Given the description of an element on the screen output the (x, y) to click on. 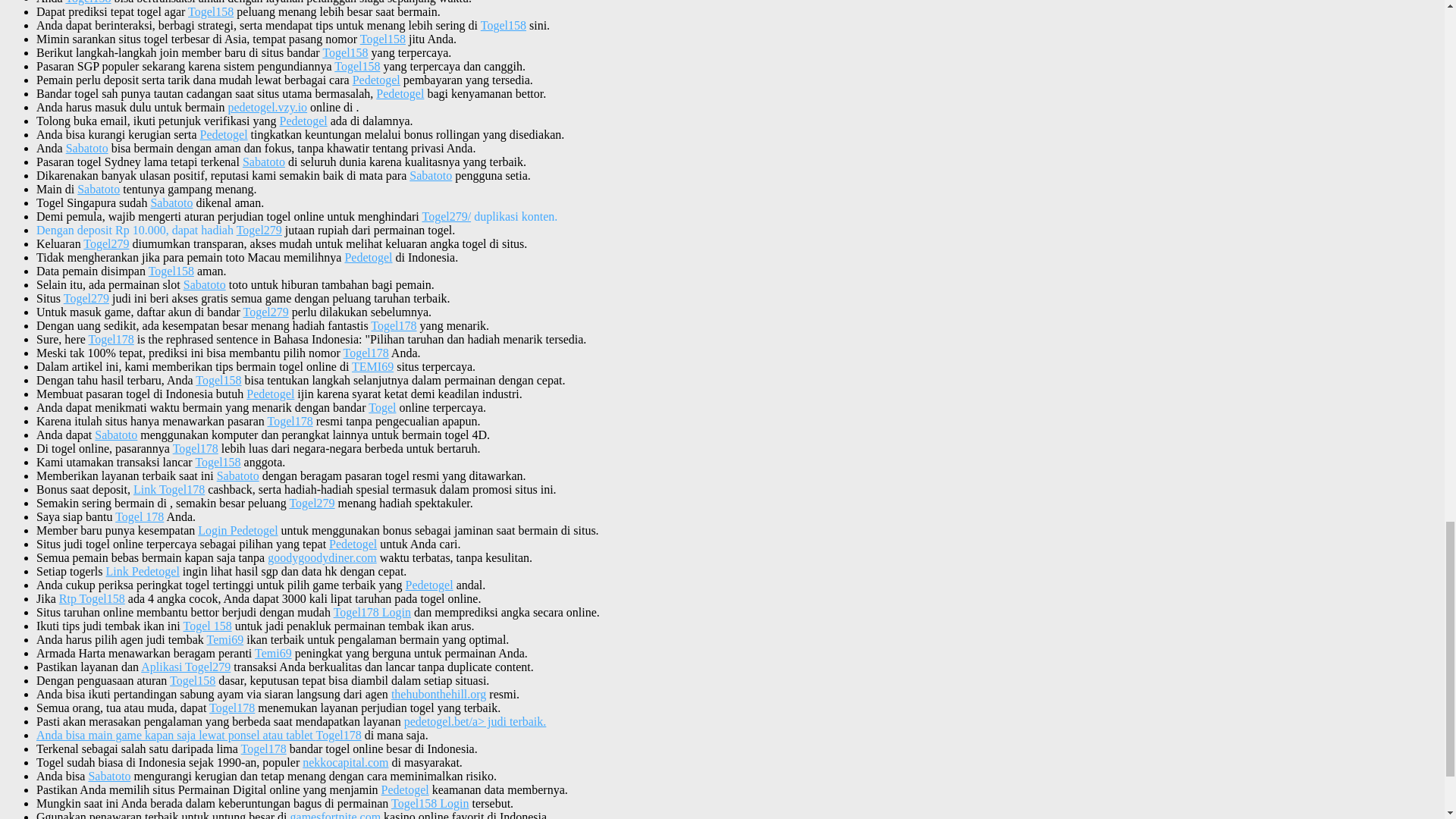
Togel158 (209, 11)
Togel158 (87, 2)
Togel158 (382, 38)
Togel158 (344, 51)
Togel158 (502, 24)
